Given the description of an element on the screen output the (x, y) to click on. 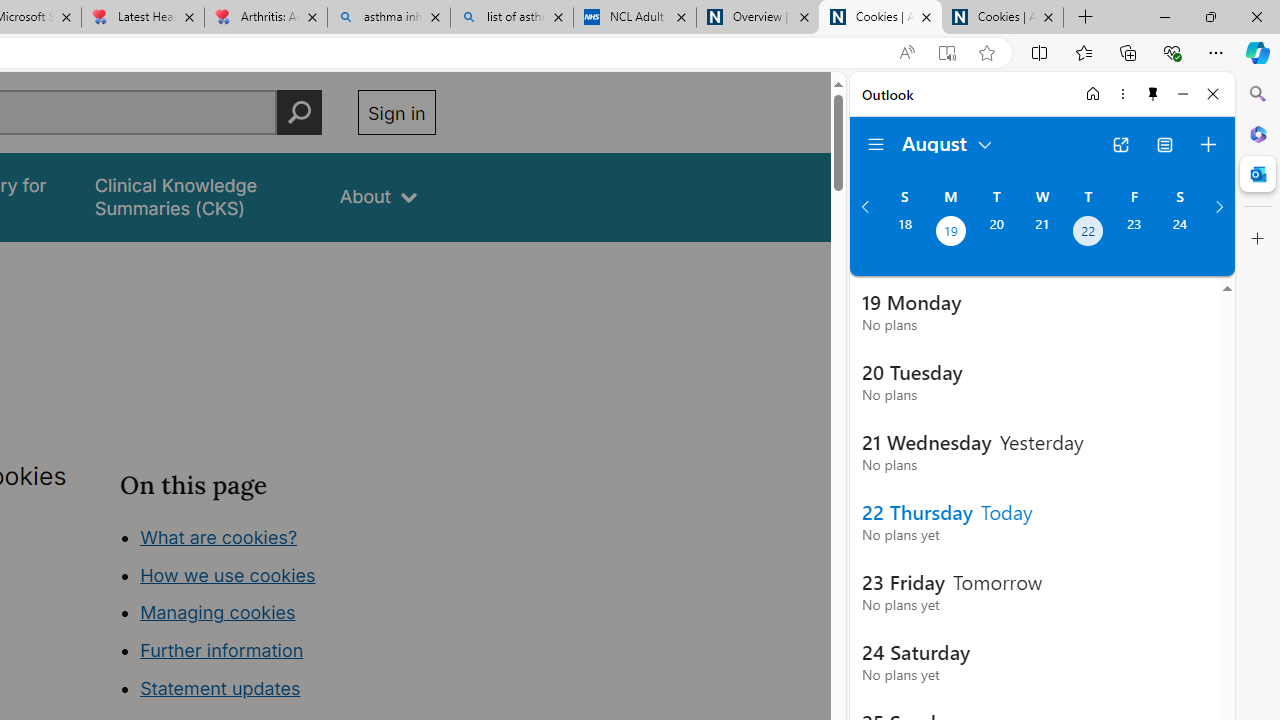
Minimize (1182, 93)
Saturday, August 24, 2024.  (1180, 233)
Cookies | About | NICE (1002, 17)
Arthritis: Ask Health Professionals (265, 17)
About (378, 196)
Sunday, August 18, 2024.  (904, 233)
Perform search (299, 112)
Statement updates (219, 688)
Friday, August 23, 2024.  (1134, 233)
Class: in-page-nav__list (277, 615)
Close Customize pane (1258, 239)
Restore (1210, 16)
